Given the description of an element on the screen output the (x, y) to click on. 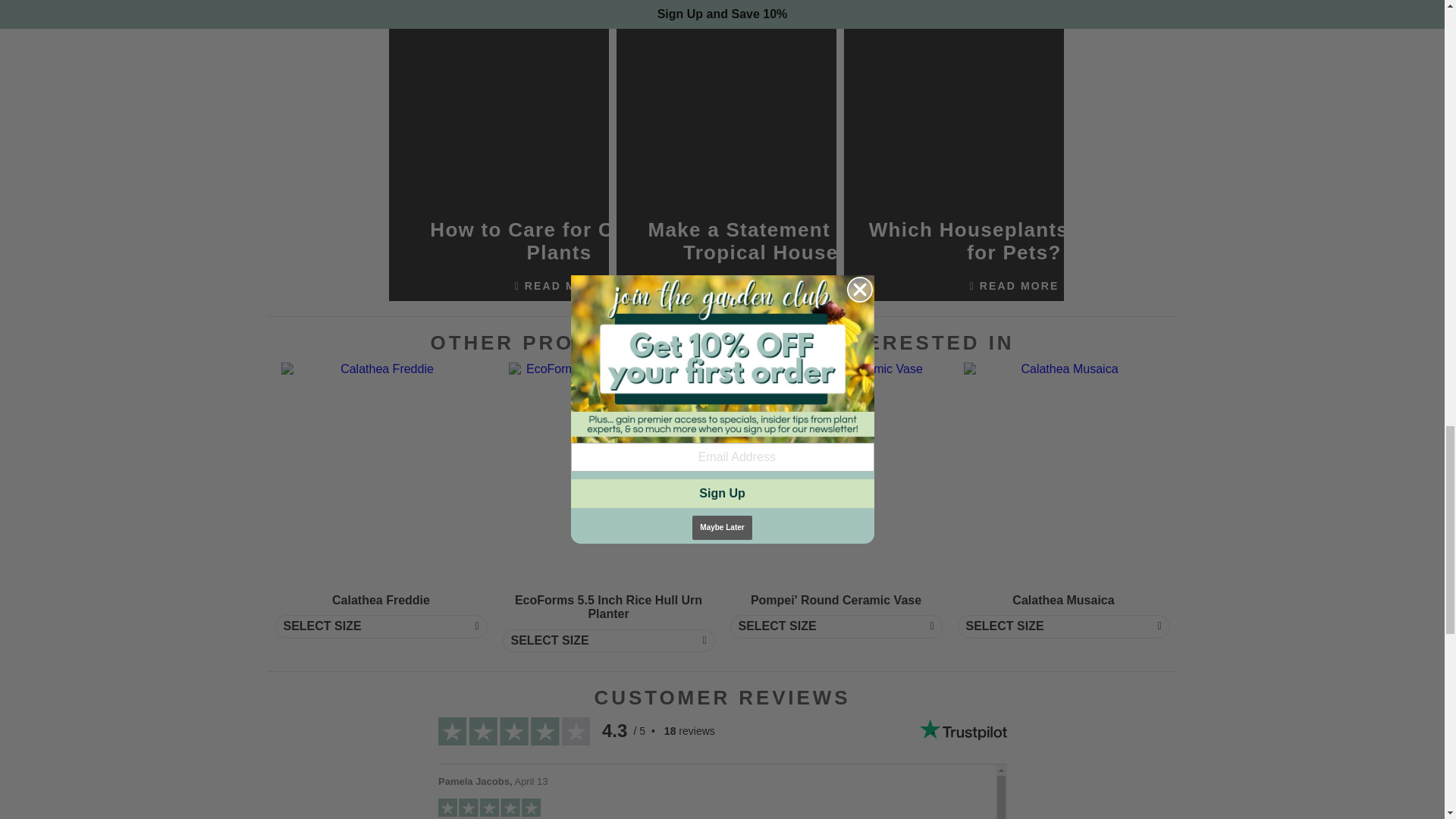
Customer reviews powered by Trustpilot (721, 768)
